Given the description of an element on the screen output the (x, y) to click on. 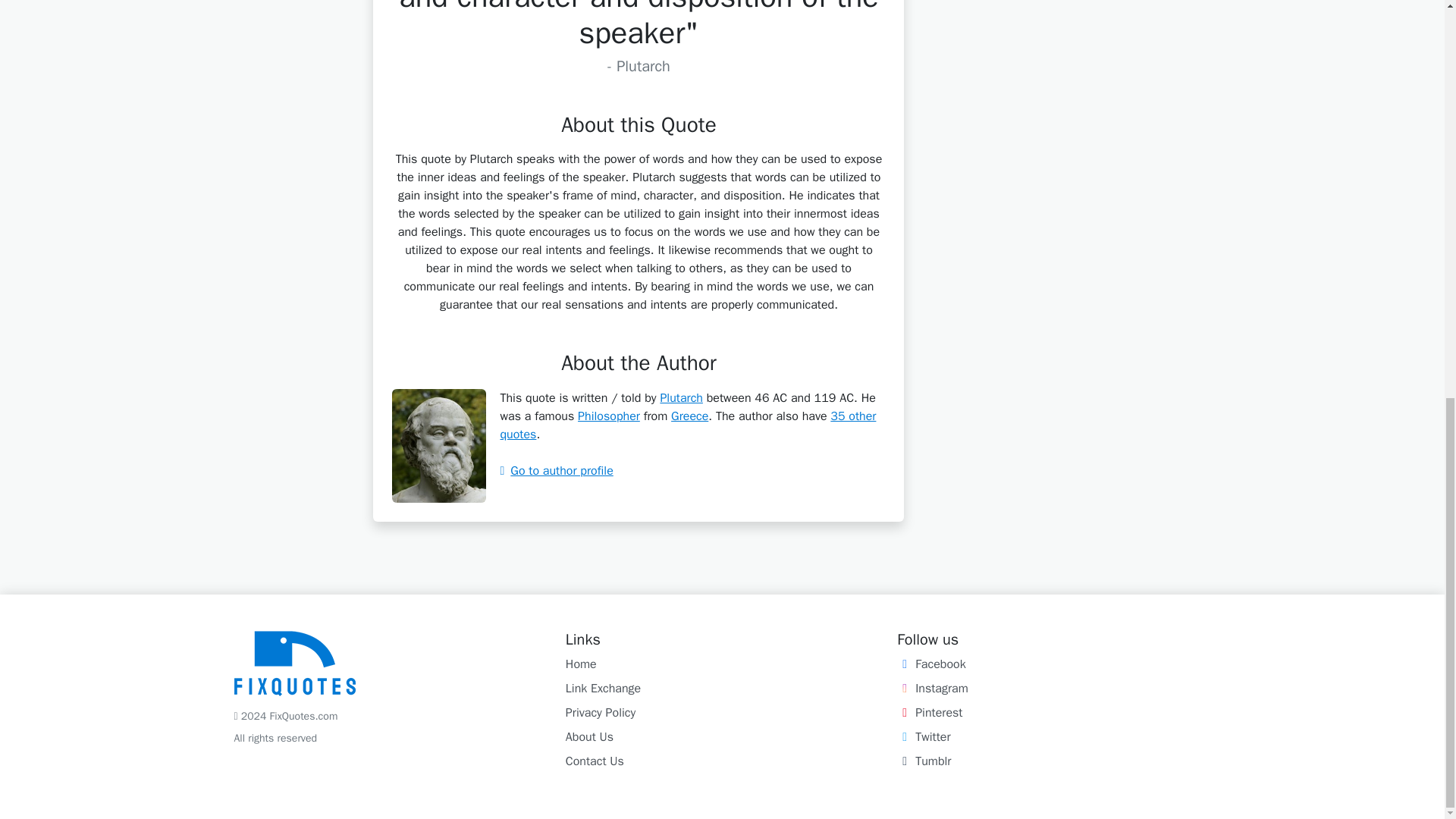
Pinterest (929, 712)
Go to author profile (555, 470)
Home (581, 663)
Facebook (930, 663)
Philosopher (609, 416)
Twitter (923, 736)
Instagram (932, 688)
Tumblr (923, 761)
35 other quotes (687, 425)
Plutarch (681, 397)
Privacy Policy (600, 712)
Greece (689, 416)
Contact Us (595, 761)
About Us (589, 736)
Link Exchange (603, 688)
